Given the description of an element on the screen output the (x, y) to click on. 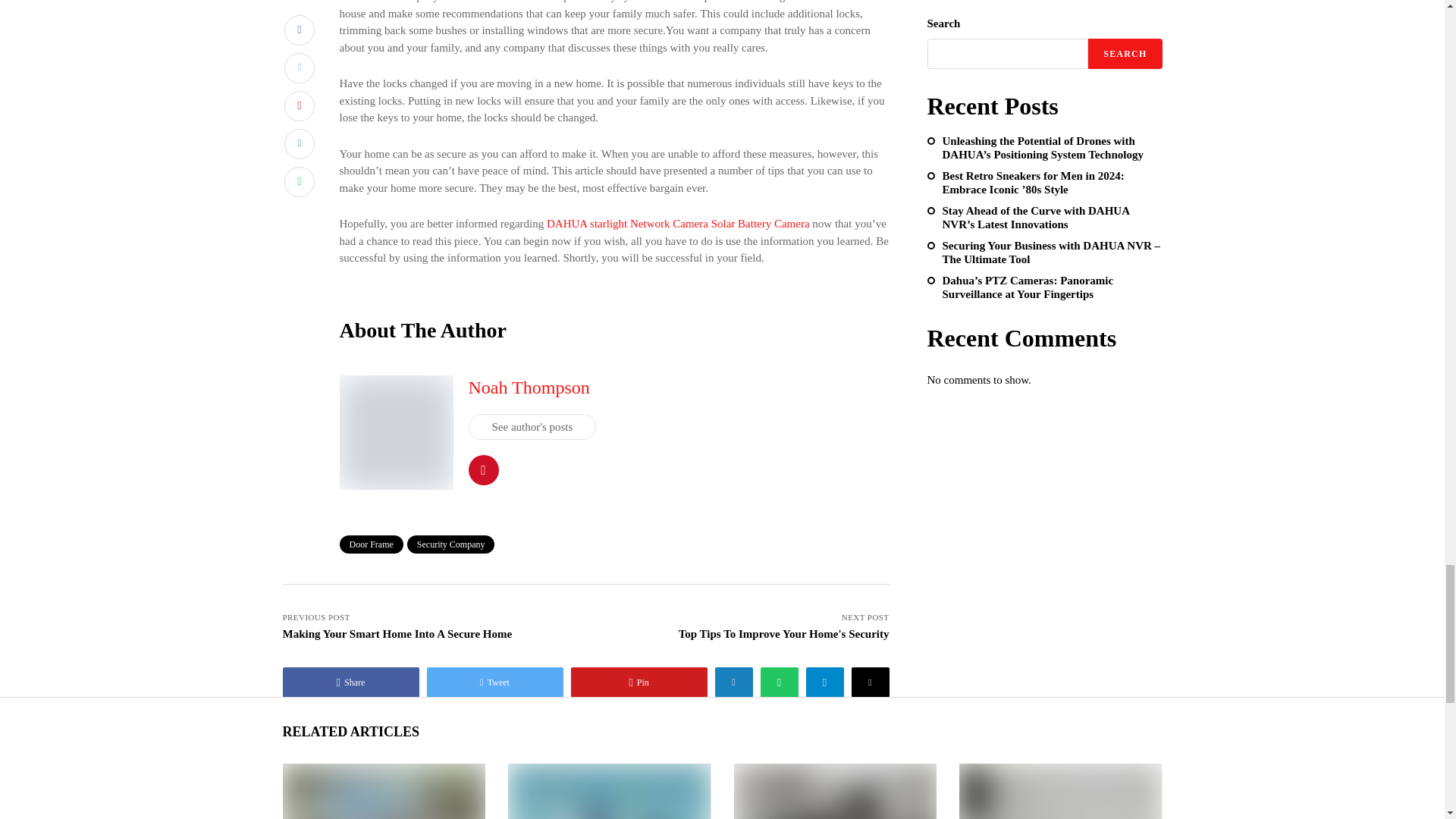
The Future of Surveillance: DAHUA Network Cameras (382, 790)
